Given the description of an element on the screen output the (x, y) to click on. 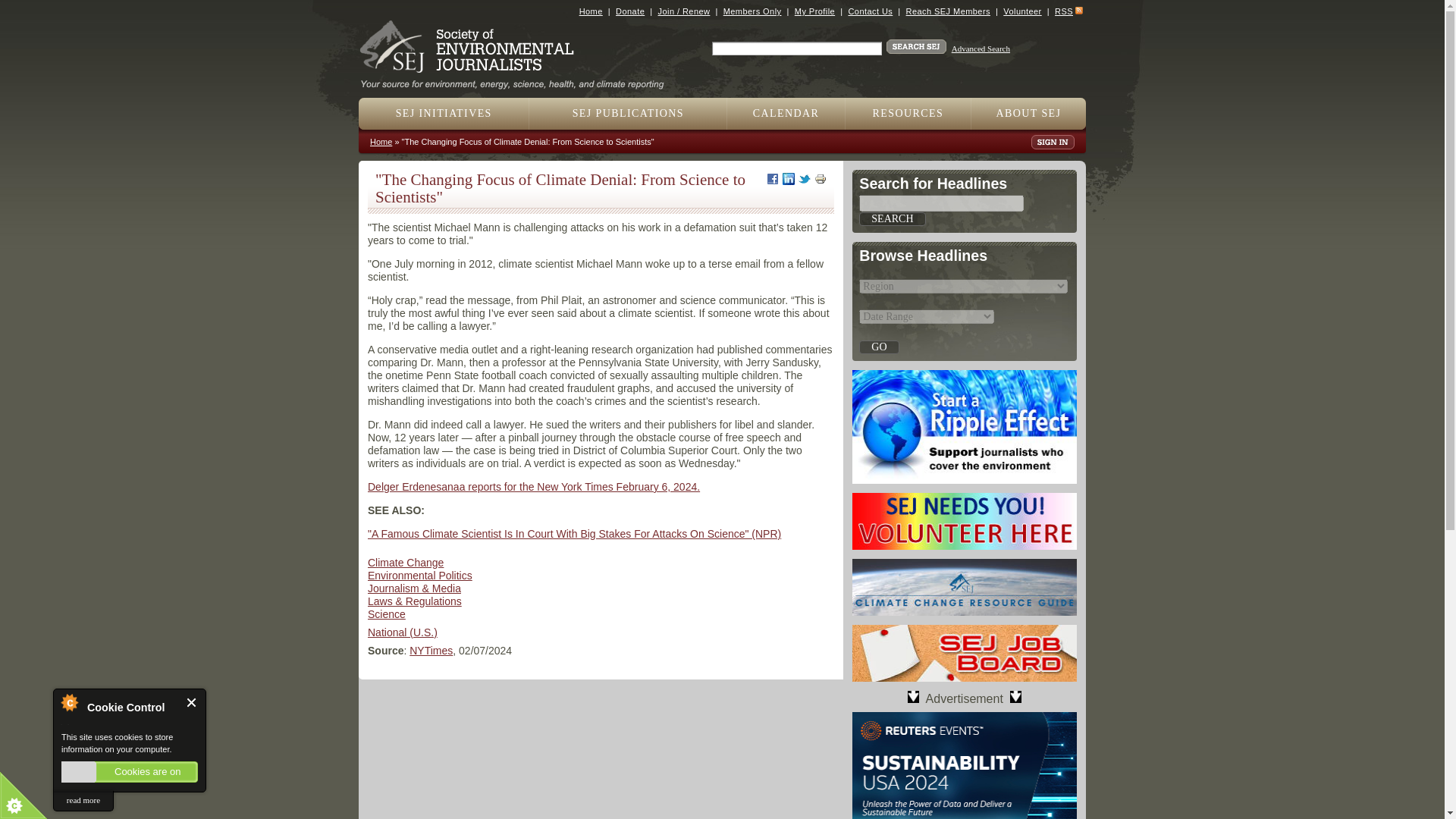
Contact Us (869, 10)
Members Only (752, 10)
RSS (1063, 10)
Go (878, 346)
Volunteer (1022, 10)
Home (590, 10)
SEJ PUBLICATIONS (627, 113)
My Profile (814, 10)
SEJ INITIATIVES (443, 113)
Search (891, 219)
